Given the description of an element on the screen output the (x, y) to click on. 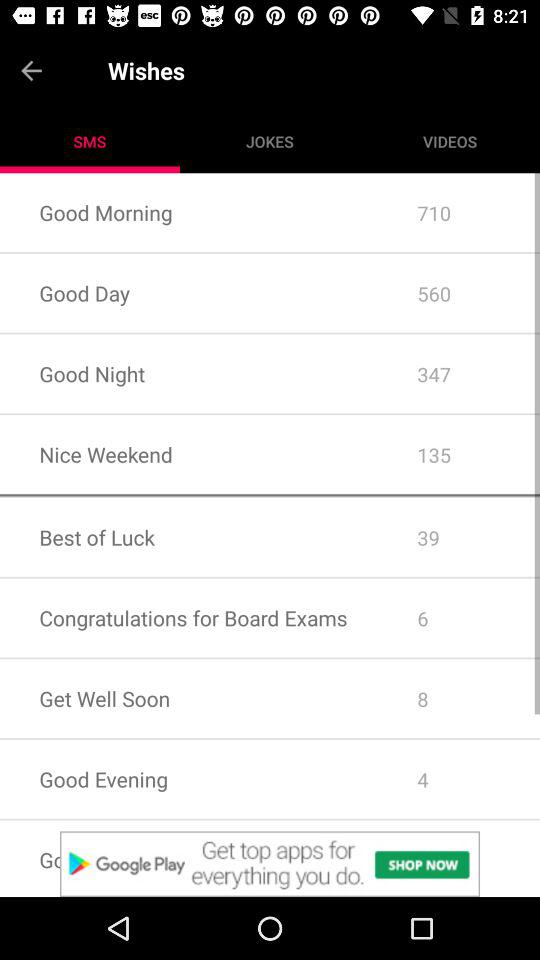
turn on item below the nice weekend app (270, 495)
